Given the description of an element on the screen output the (x, y) to click on. 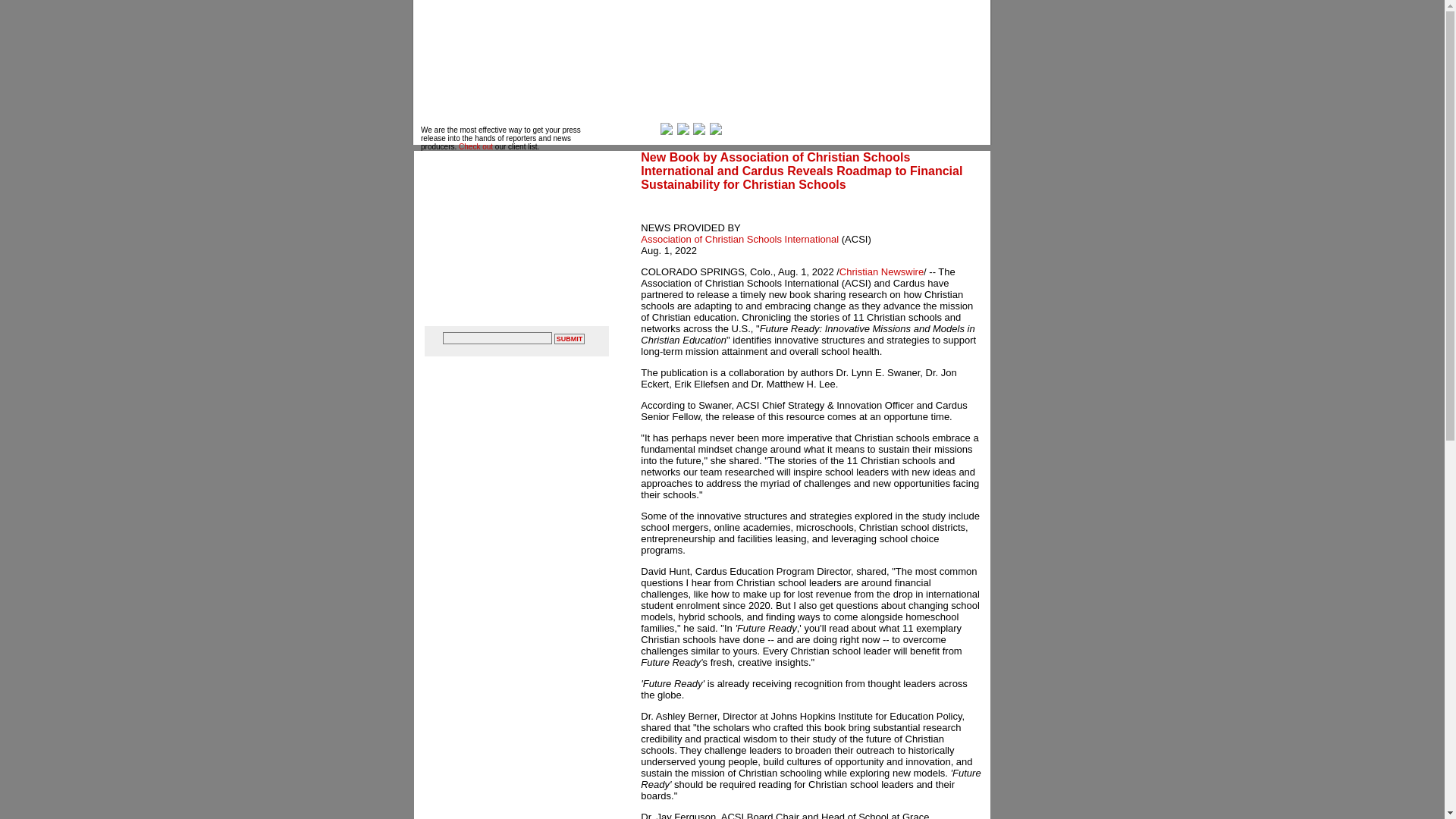
Check out (475, 146)
Christian Newswire (881, 271)
SUBMIT (569, 338)
Association of Christian Schools International (739, 238)
